Given the description of an element on the screen output the (x, y) to click on. 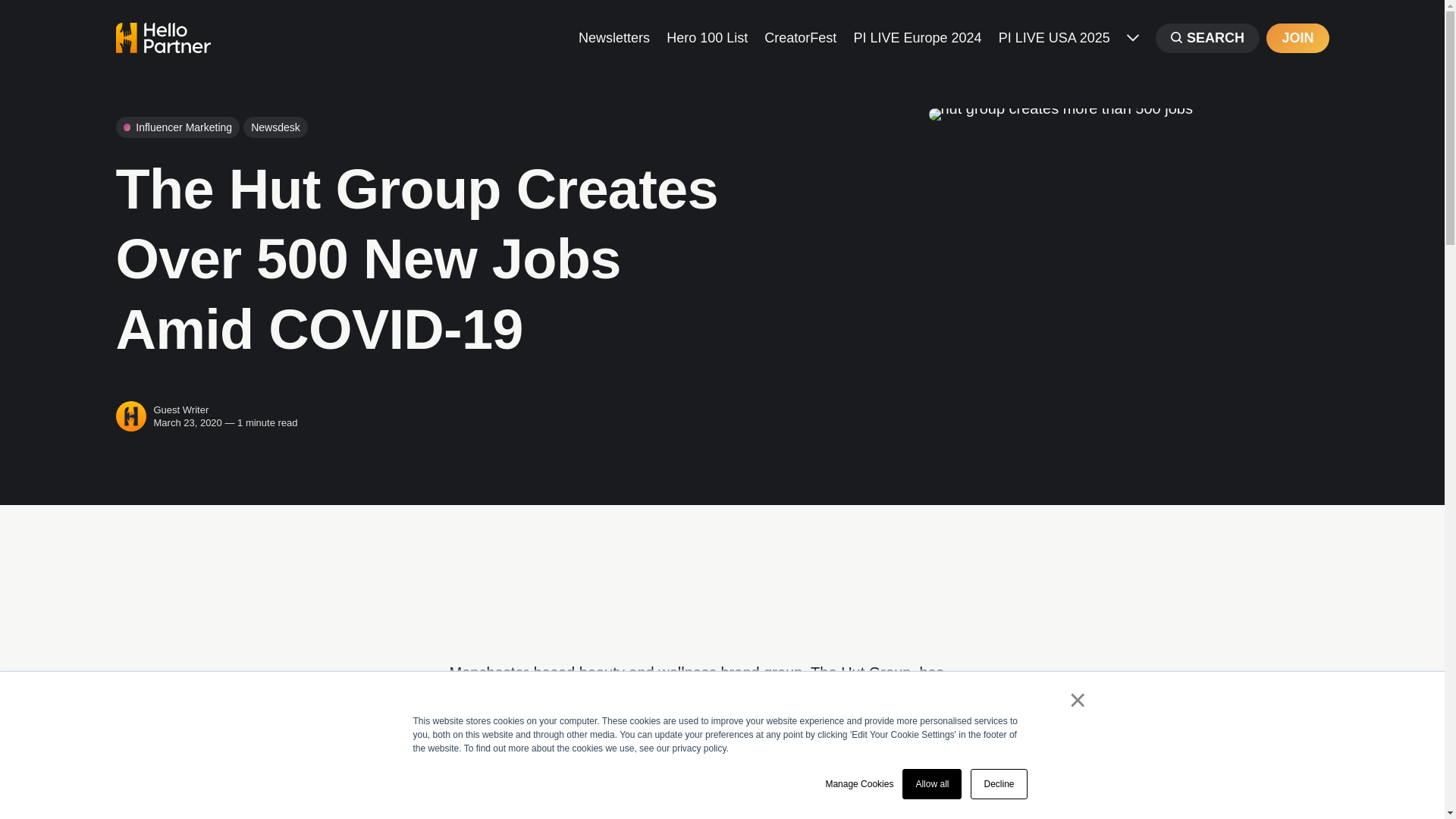
Decline (998, 784)
JOIN (1296, 37)
Influencer Marketing (177, 127)
Lookfantastic.com. (542, 770)
Allow all (931, 784)
PI LIVE USA 2025 (1053, 37)
Newsletters (613, 37)
PI LIVE Europe 2024 (917, 37)
Newsdesk (275, 127)
Manage Cookies (859, 784)
